Given the description of an element on the screen output the (x, y) to click on. 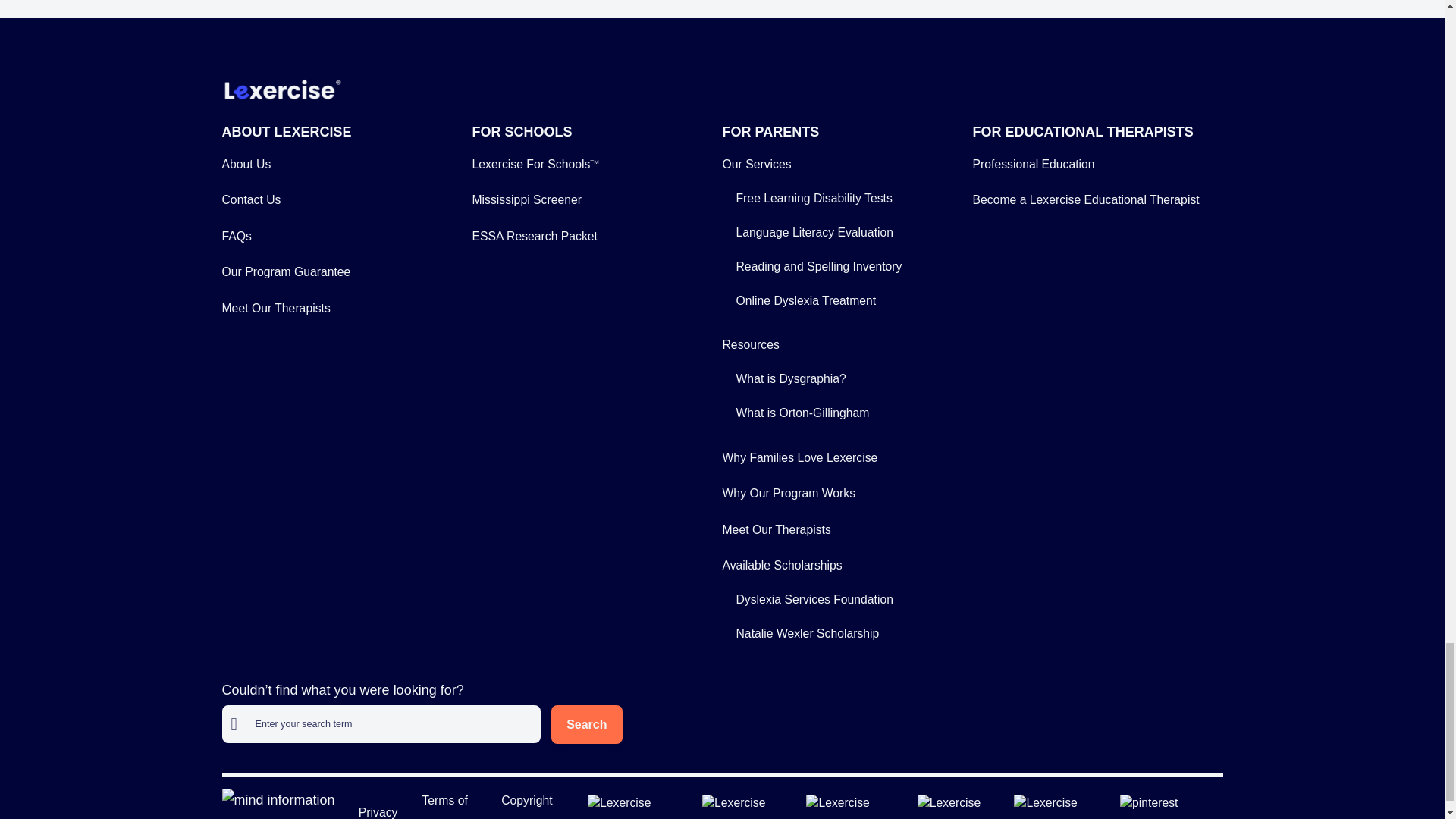
Lexercise linkedin (747, 804)
Lexercise pinterest (1167, 804)
Lexercise youtube (1060, 804)
Lexercise facebook (855, 804)
Lexercise footer logo (281, 88)
Lexercise twitter (960, 804)
Lexercise instagram (639, 804)
